Given the description of an element on the screen output the (x, y) to click on. 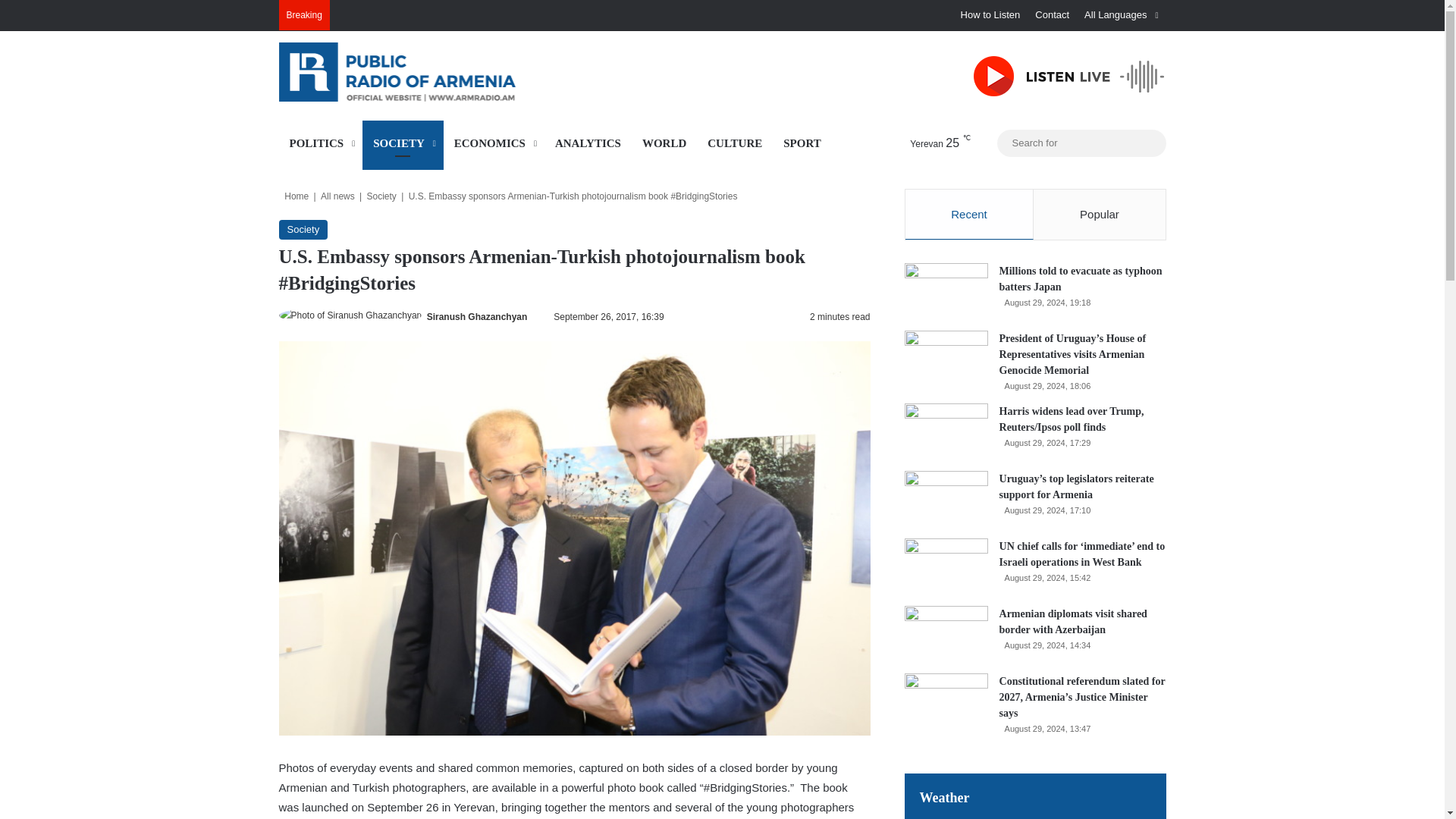
Siranush Ghazanchyan (476, 317)
ECONOMICS (494, 143)
Society (304, 229)
CULTURE (735, 143)
SPORT (802, 143)
POLITICS (320, 143)
ANALYTICS (587, 143)
SOCIETY (403, 143)
Society (381, 195)
Search for (1080, 142)
